Given the description of an element on the screen output the (x, y) to click on. 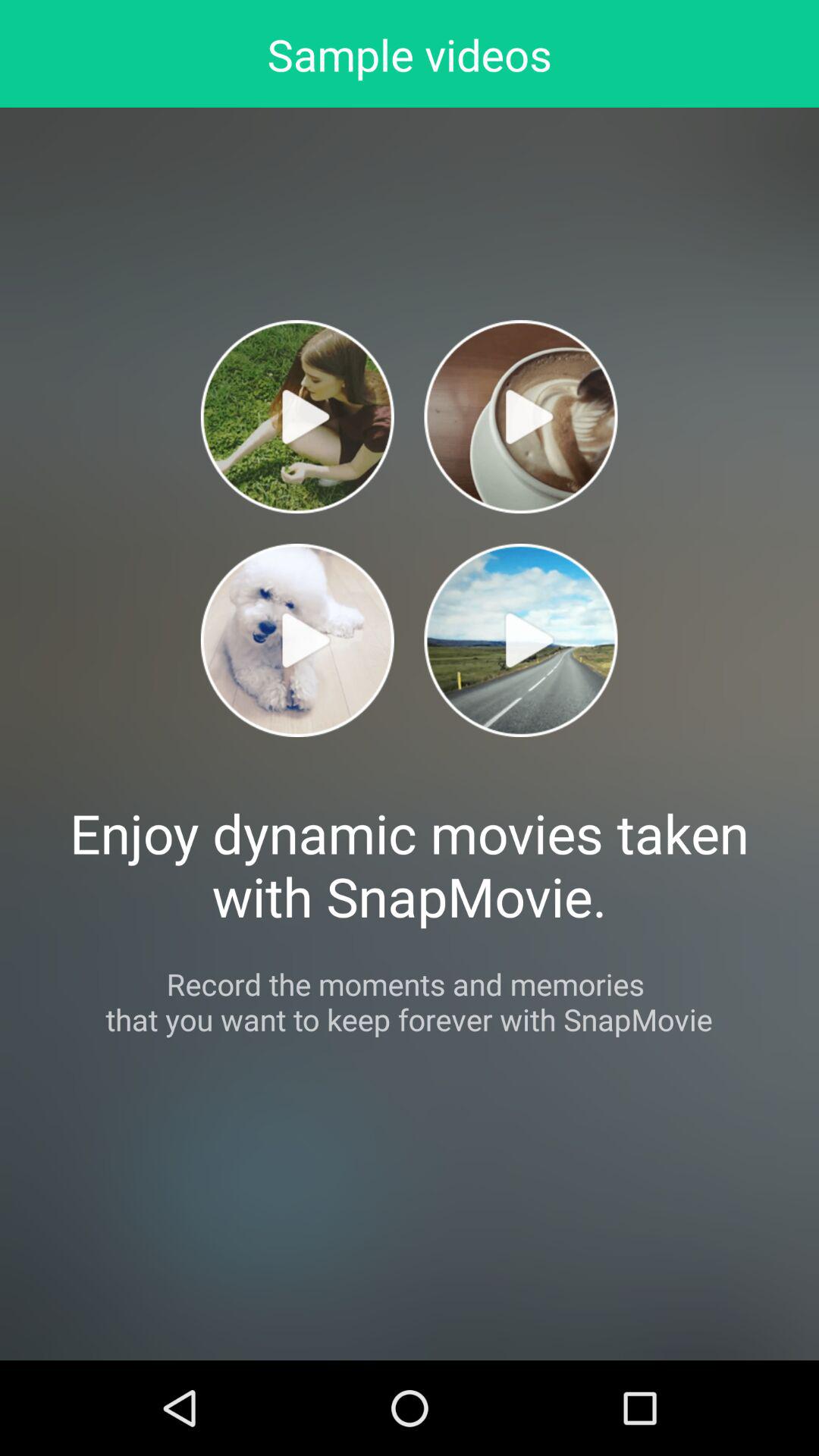
play sample video (520, 416)
